Given the description of an element on the screen output the (x, y) to click on. 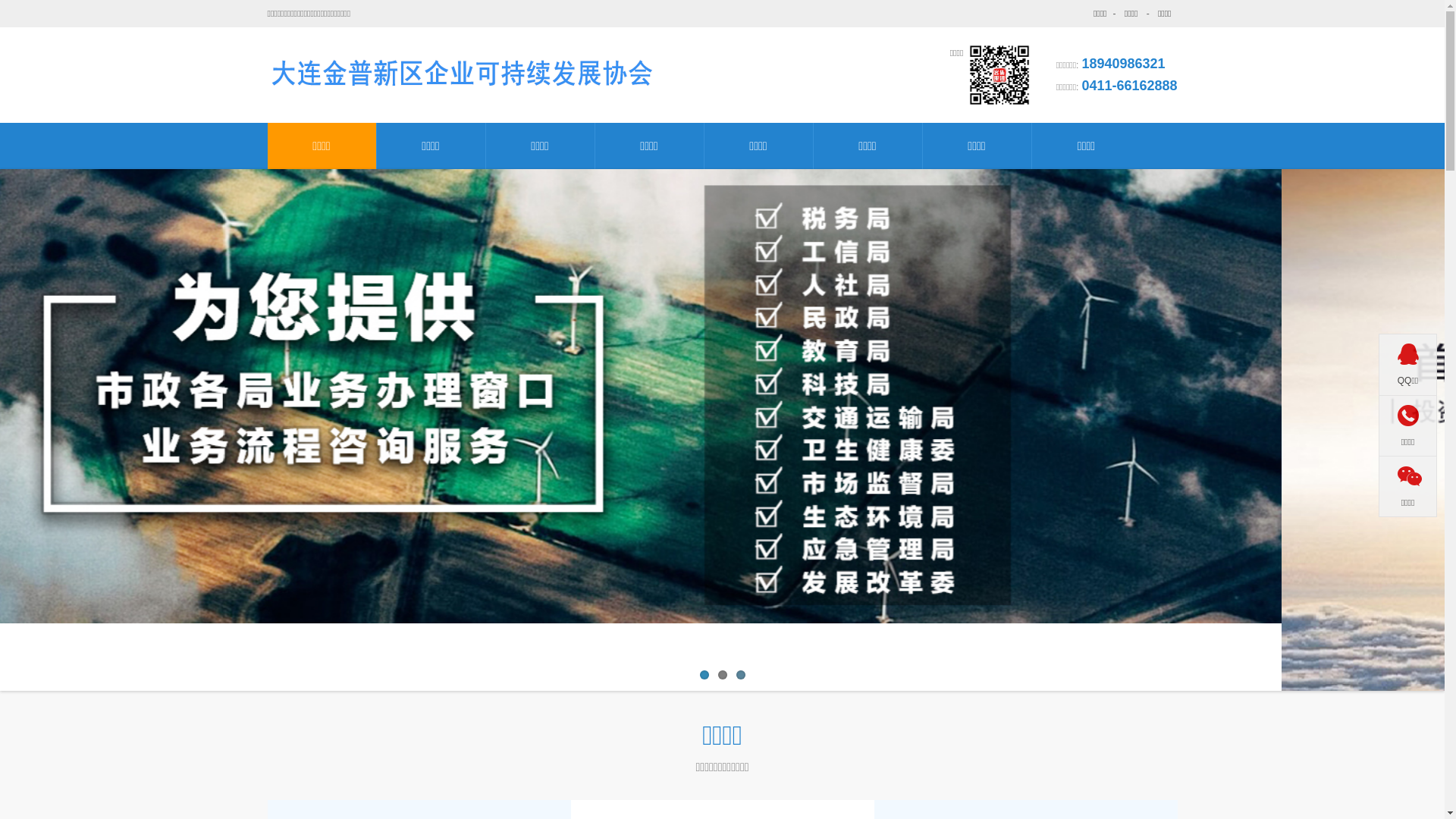
3 Element type: text (739, 674)
2 Element type: text (721, 674)
1 Element type: text (703, 674)
